Given the description of an element on the screen output the (x, y) to click on. 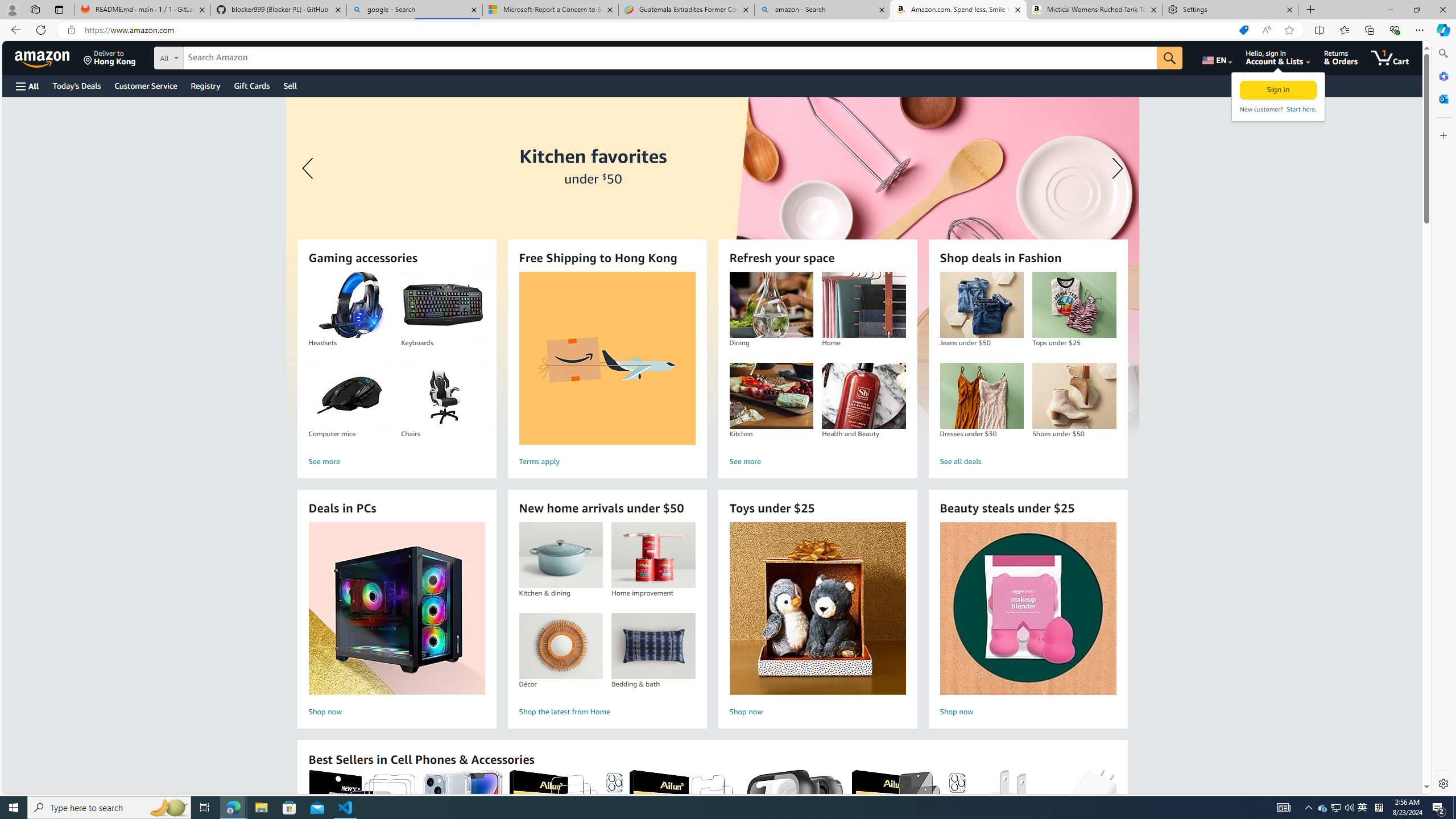
Free Shipping to Hong Kong (606, 357)
Customize (1442, 135)
New Tab (1311, 9)
Read aloud this page (Ctrl+Shift+U) (1266, 29)
Settings (1230, 9)
Kitchen & dining (560, 555)
Home (863, 304)
Registry (205, 85)
Split screen (1318, 29)
Microsoft-Report a Concern to Bing (550, 9)
Jeans under $50 (981, 304)
